Given the description of an element on the screen output the (x, y) to click on. 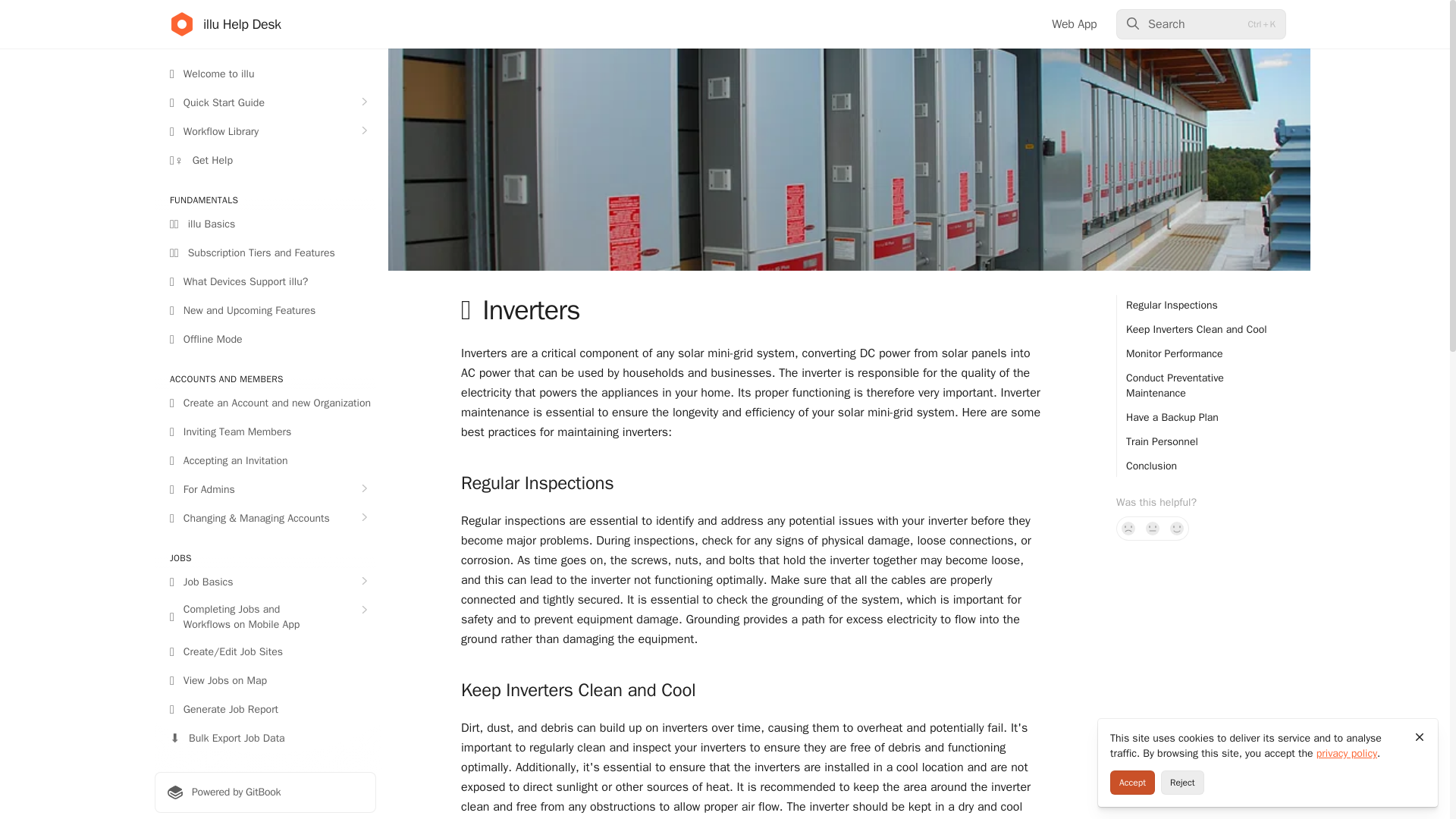
Close (1419, 737)
No (1128, 528)
Not sure (1152, 528)
Web App (1073, 24)
Yes, it was! (1176, 528)
illu Help Desk (225, 24)
